Given the description of an element on the screen output the (x, y) to click on. 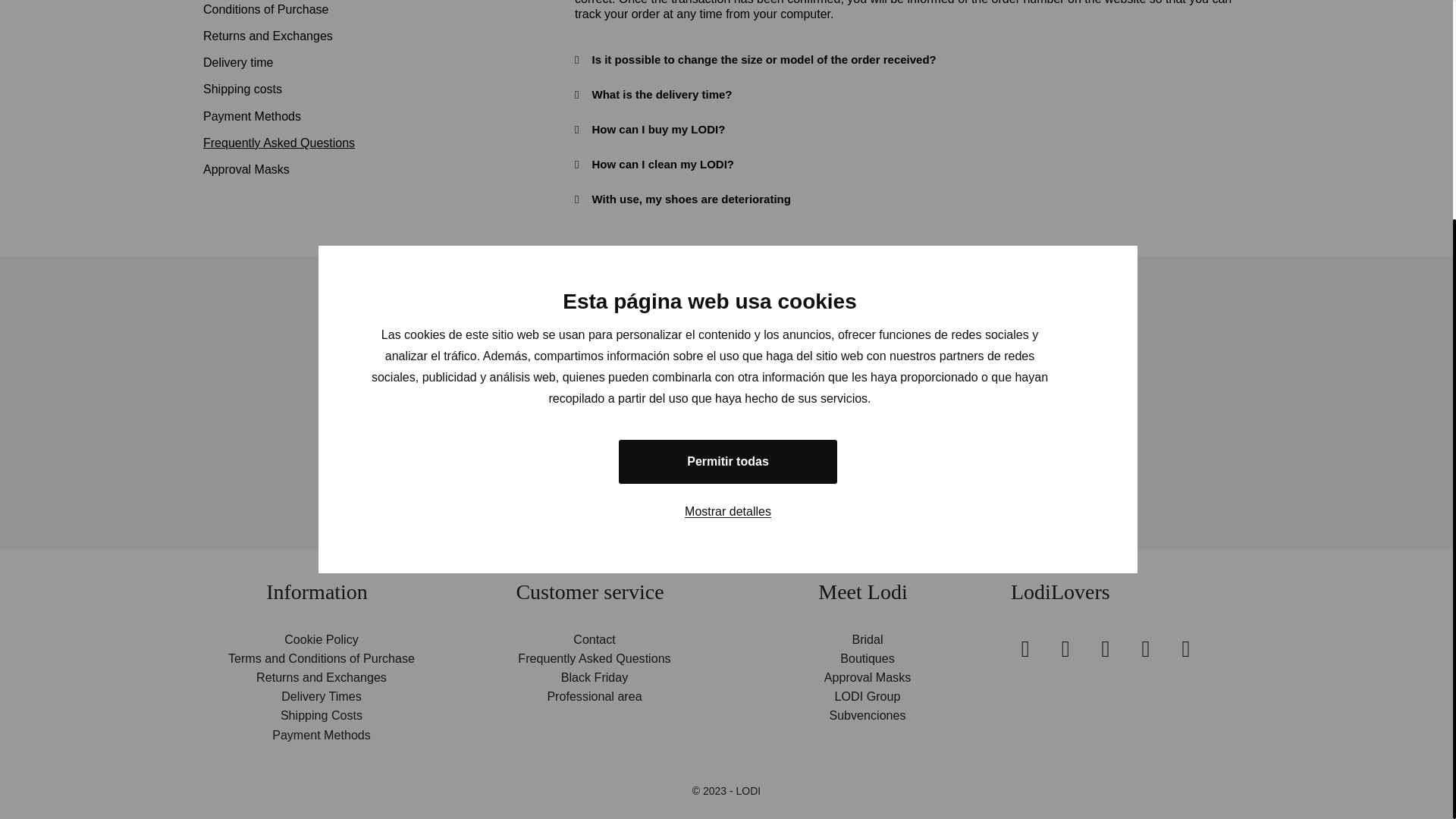
Permitir todas (727, 162)
Mostrar detalles (727, 212)
